Given the description of an element on the screen output the (x, y) to click on. 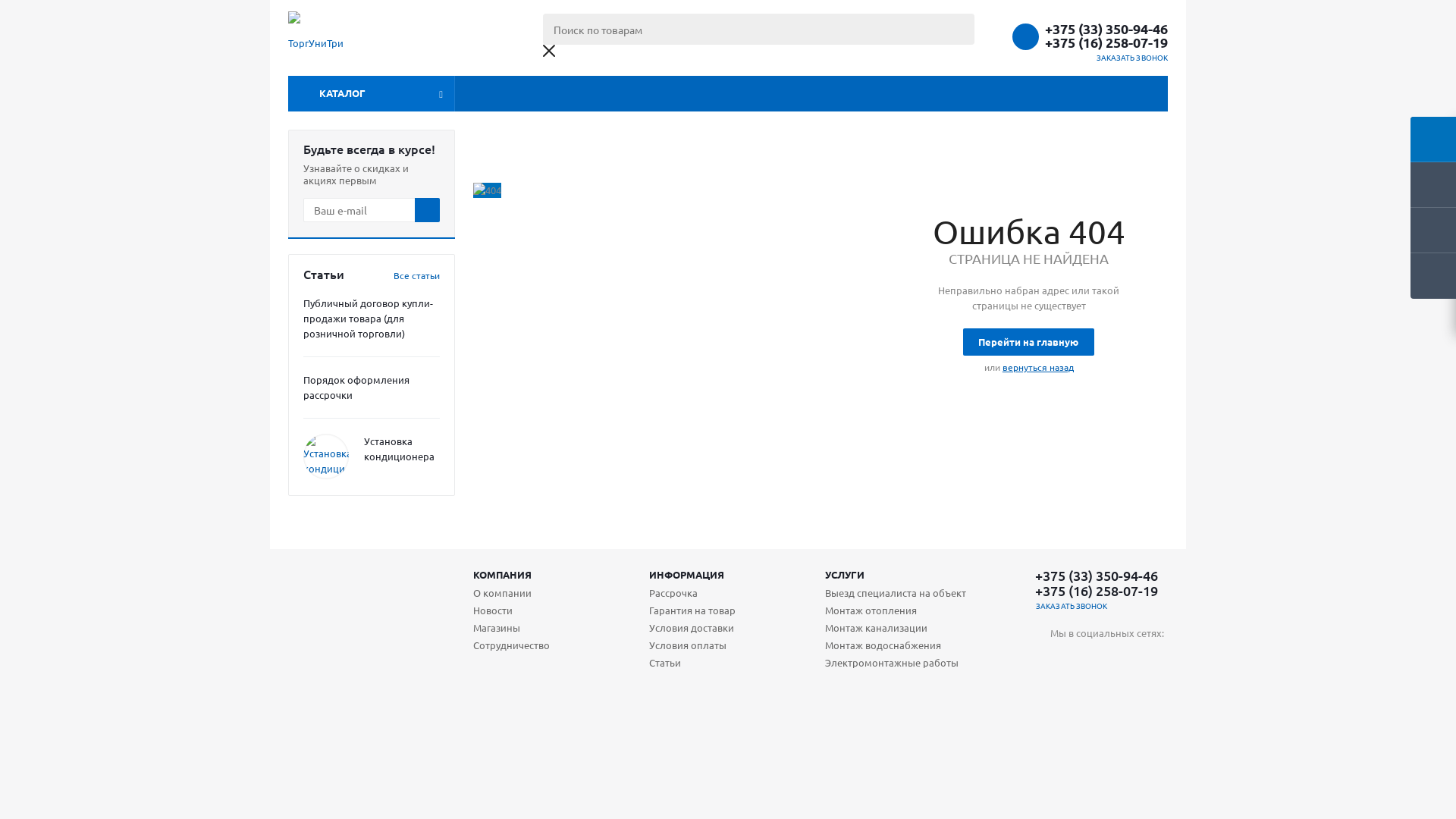
:-( Element type: hover (487, 189)
+375 (33) 350-94-46 Element type: text (1096, 575)
YOUTUBE Element type: hover (1092, 658)
+375 (16) 258-07-19 Element type: text (1105, 42)
+375 (33) 350-94-46 Element type: text (1105, 28)
+375 (16) 258-07-19 Element type: text (1096, 590)
VIBER Element type: hover (1123, 658)
Instagram Element type: hover (1061, 658)
